Given the description of an element on the screen output the (x, y) to click on. 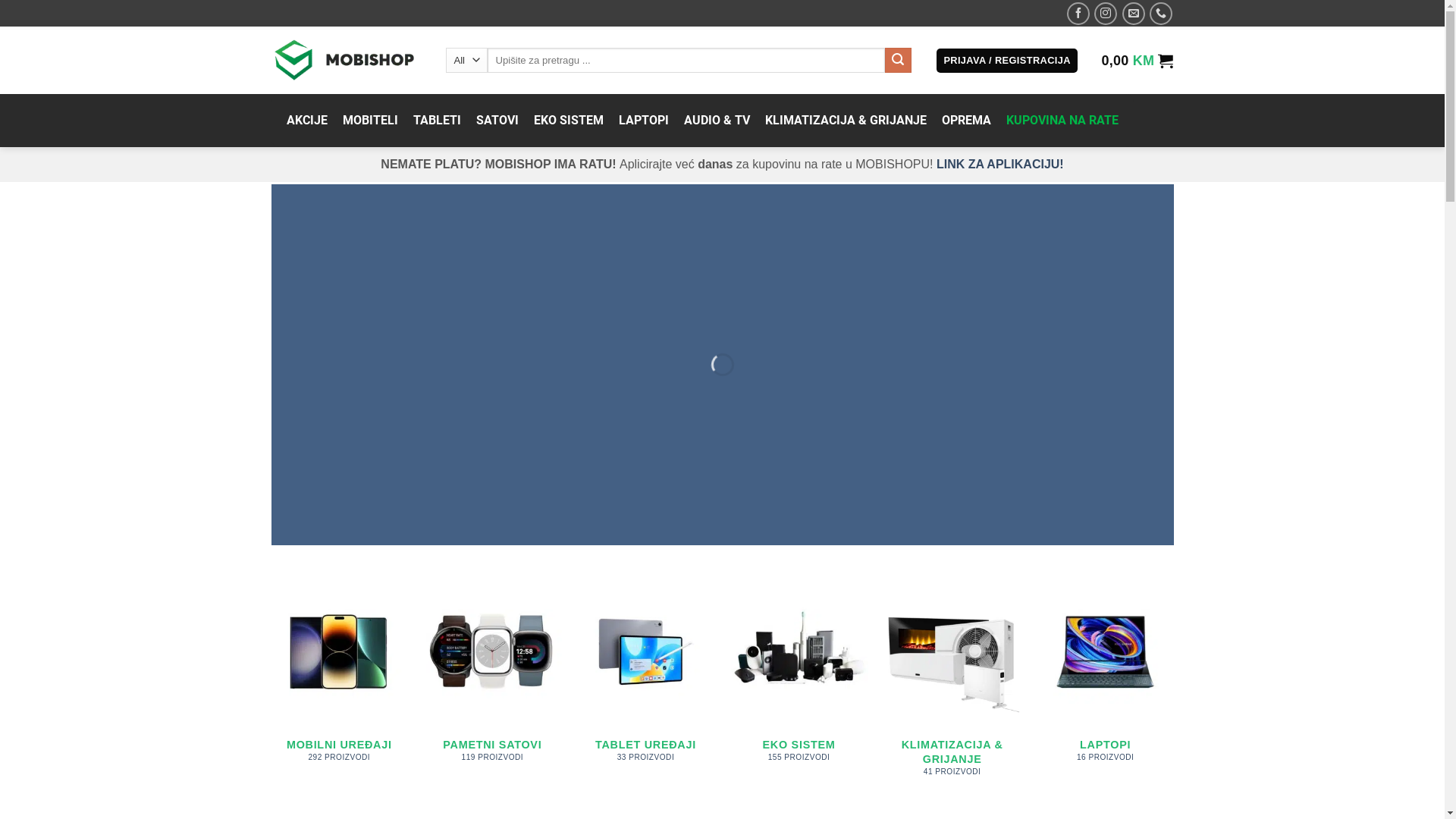
SATOVI Element type: text (497, 120)
KLIMATIZACIJA & GRIJANJE Element type: text (844, 120)
Follow on Instagram Element type: hover (1105, 12)
PRIJAVA / REGISTRACIJA Element type: text (1006, 60)
TABLETI Element type: text (435, 120)
OPREMA Element type: text (966, 120)
KLIMATIZACIJA & GRIJANJE
41 PROIZVODI Element type: text (951, 685)
Send us an email Element type: hover (1133, 12)
PAMETNI SATOVI
119 PROIZVODI Element type: text (492, 677)
EKO SISTEM
155 PROIZVODI Element type: text (798, 677)
LAPTOPI
16 PROIZVODI Element type: text (1104, 677)
Follow on Facebook Element type: hover (1077, 12)
Call us Element type: hover (1160, 12)
Mobishop - Prodaja mobitela Element type: hover (347, 60)
LINK ZA APLIKACIJU! Element type: text (999, 163)
MOBITELI Element type: text (370, 120)
KUPOVINA NA RATE Element type: text (1061, 120)
0,00 KM Element type: text (1137, 60)
AUDIO & TV Element type: text (716, 120)
EKO SISTEM Element type: text (568, 120)
AKCIJE Element type: text (307, 120)
LAPTOPI Element type: text (643, 120)
